Given the description of an element on the screen output the (x, y) to click on. 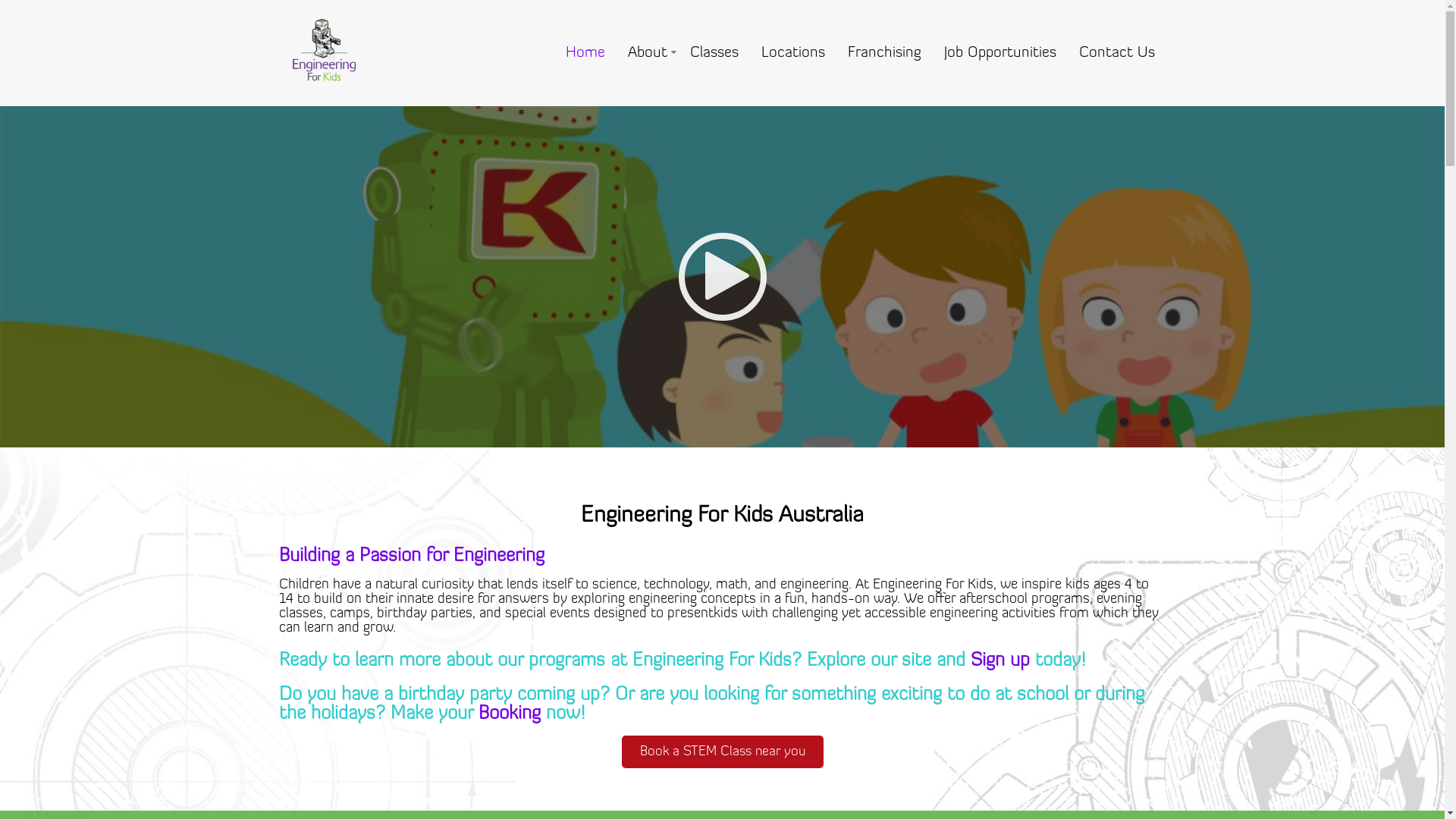
Engineering For Kids Element type: hover (324, 99)
Locations Element type: text (792, 53)
Home Element type: text (584, 53)
Booking Element type: text (508, 713)
Franchising Element type: text (883, 53)
Sign up Element type: text (999, 660)
Book a STEM Class near you Element type: text (722, 751)
About Element type: text (646, 53)
Job Opportunities Element type: text (999, 53)
Contact Us Element type: text (1116, 53)
Classes Element type: text (713, 53)
